Given the description of an element on the screen output the (x, y) to click on. 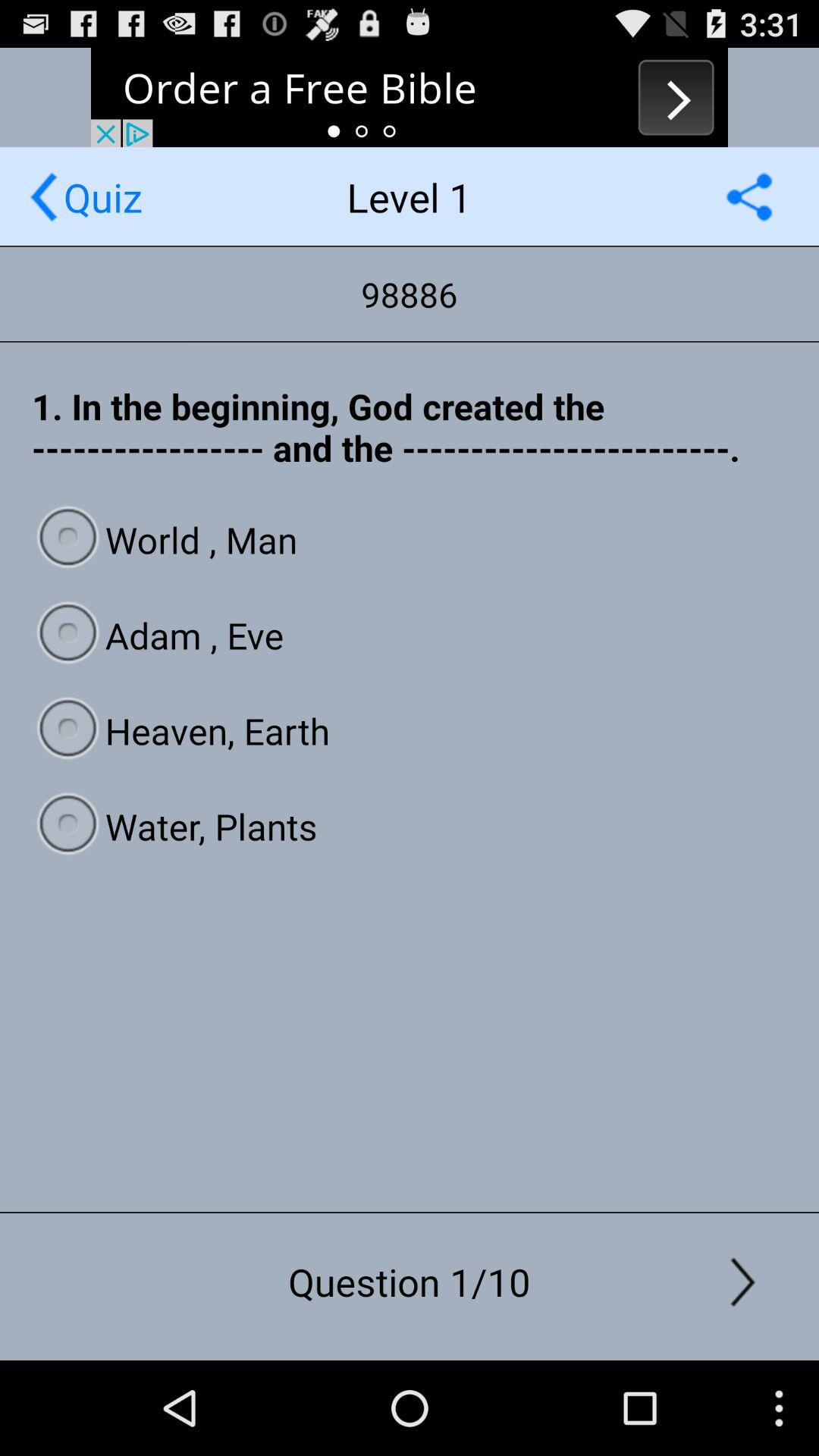
open menu options (749, 196)
